Given the description of an element on the screen output the (x, y) to click on. 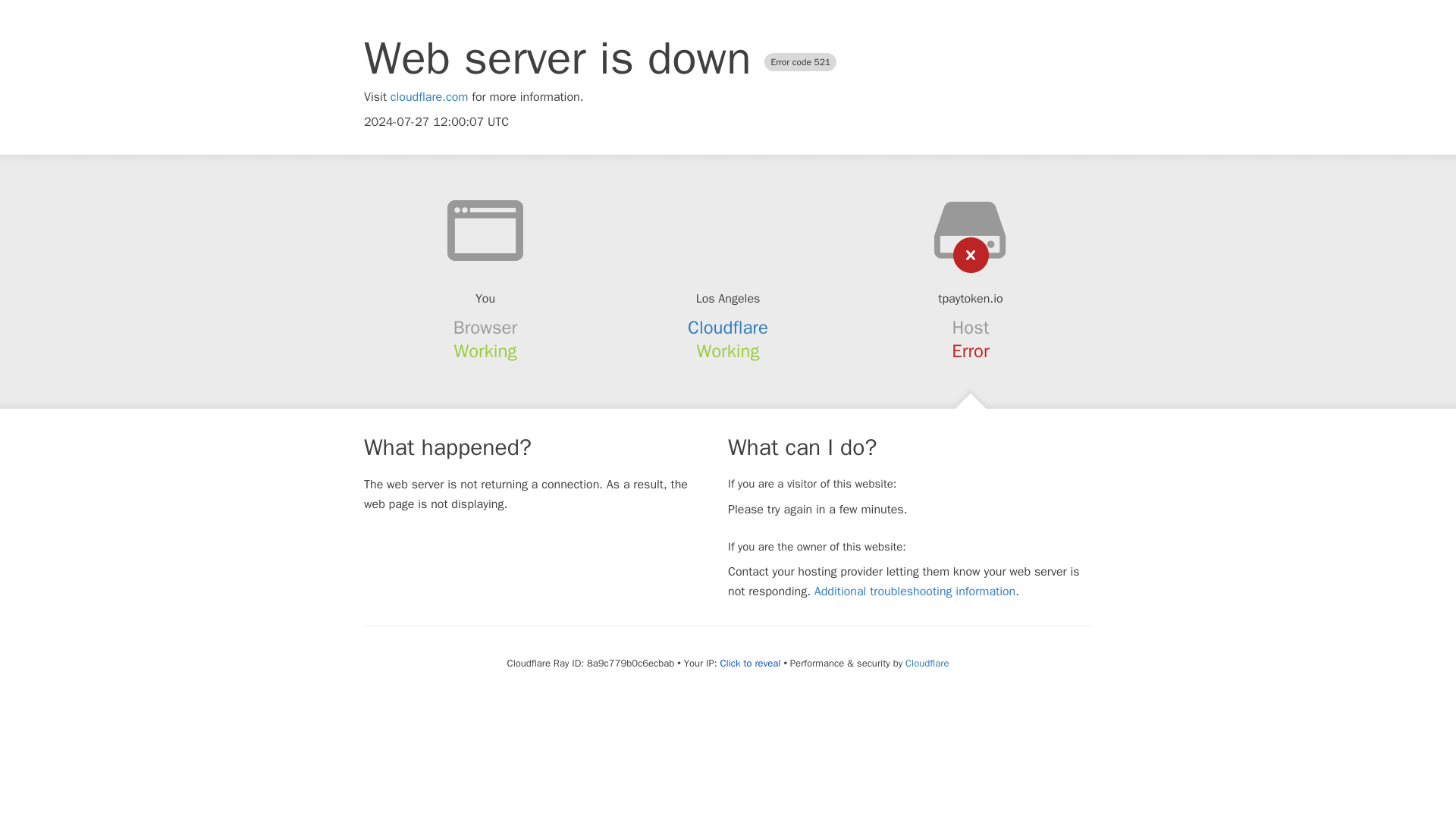
Additional troubleshooting information (913, 590)
cloudflare.com (429, 96)
Click to reveal (750, 663)
Cloudflare (927, 662)
Cloudflare (727, 327)
